Given the description of an element on the screen output the (x, y) to click on. 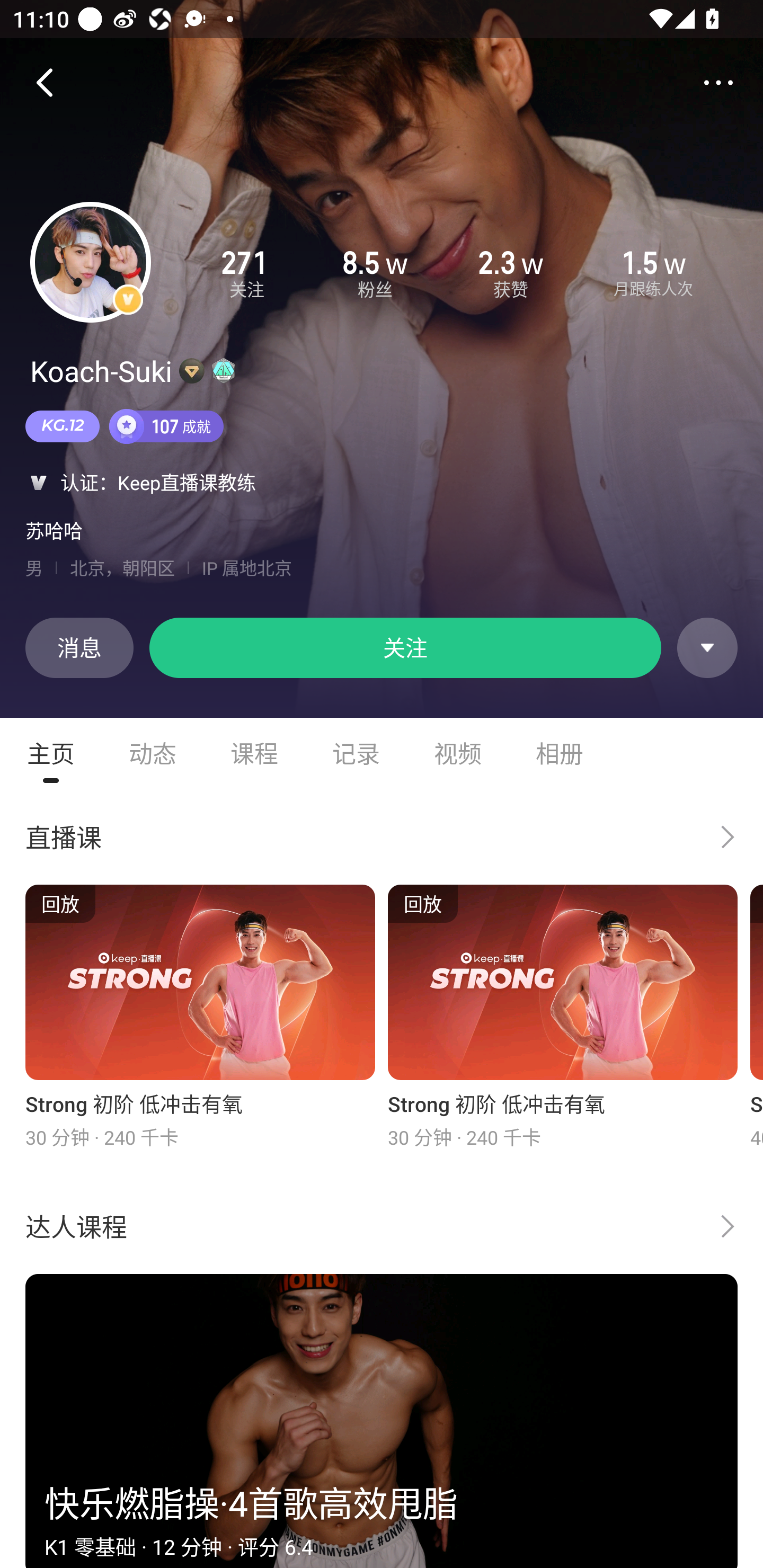
107 成就 (166, 426)
认证： Keep直播课教练 (381, 481)
消息 (79, 647)
关注 (405, 647)
主页 (50, 753)
动态 (152, 753)
课程 (254, 753)
记录 (355, 753)
视频 (457, 753)
相册 (559, 753)
直播课 更多 (381, 836)
回放 Strong 初阶 低冲击有氧 30 分钟 · 240 千卡 (200, 1016)
回放 Strong 初阶 低冲击有氧 30 分钟 · 240 千卡 (562, 1016)
达人课程 更多 (381, 1226)
快乐燃脂操·4首歌高效甩脂 K1 零基础 · 12 分钟 · 评分 6.4 (381, 1420)
